Given the description of an element on the screen output the (x, y) to click on. 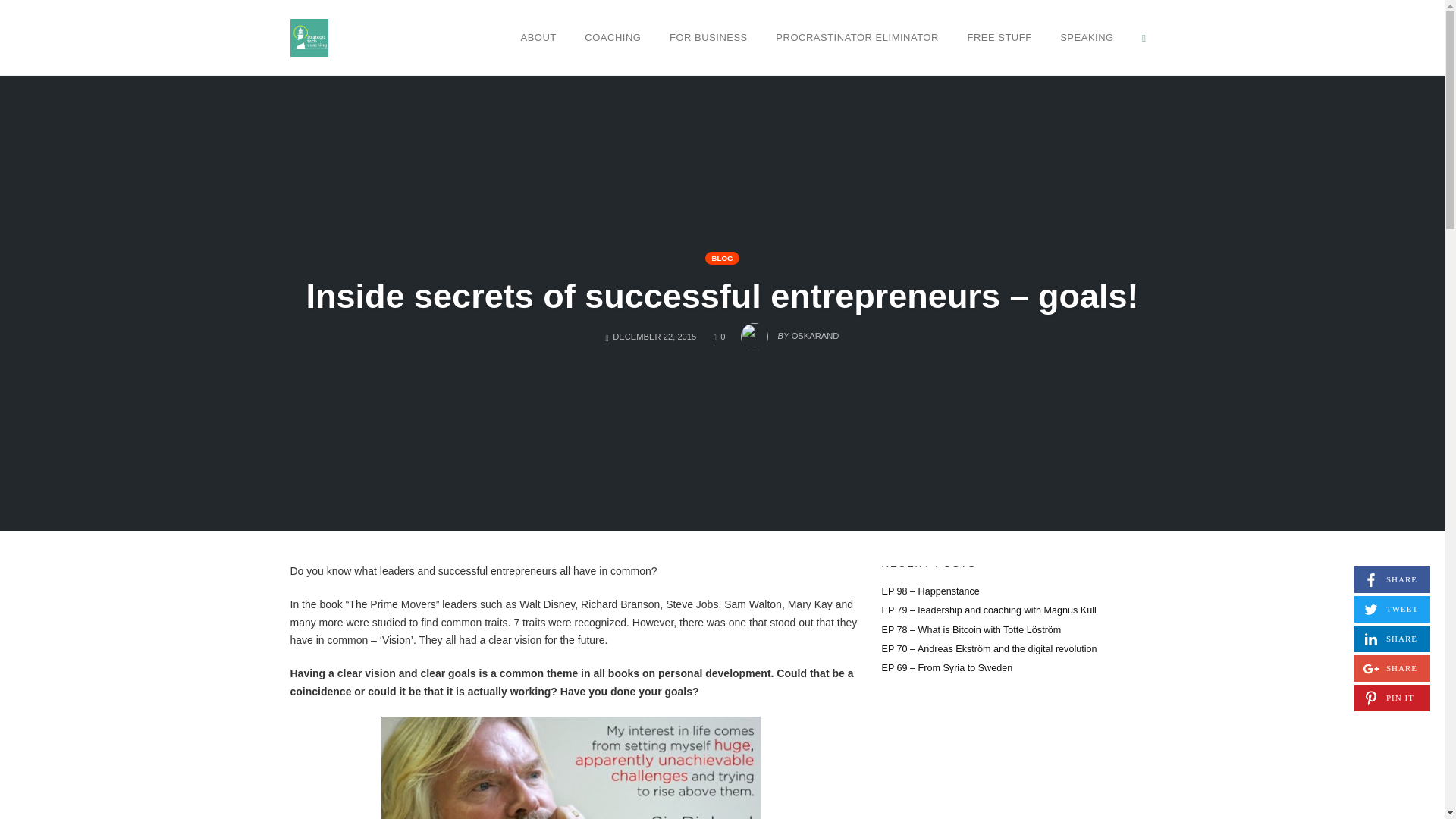
BY OSKARAND (719, 336)
FOR BUSINESS (788, 331)
FREE STUFF (708, 37)
SPEAKING (998, 37)
COACHING (1086, 37)
Strategictech Coaching (1391, 579)
PROCRASTINATOR ELIMINATOR (612, 37)
BLOG (308, 37)
